Given the description of an element on the screen output the (x, y) to click on. 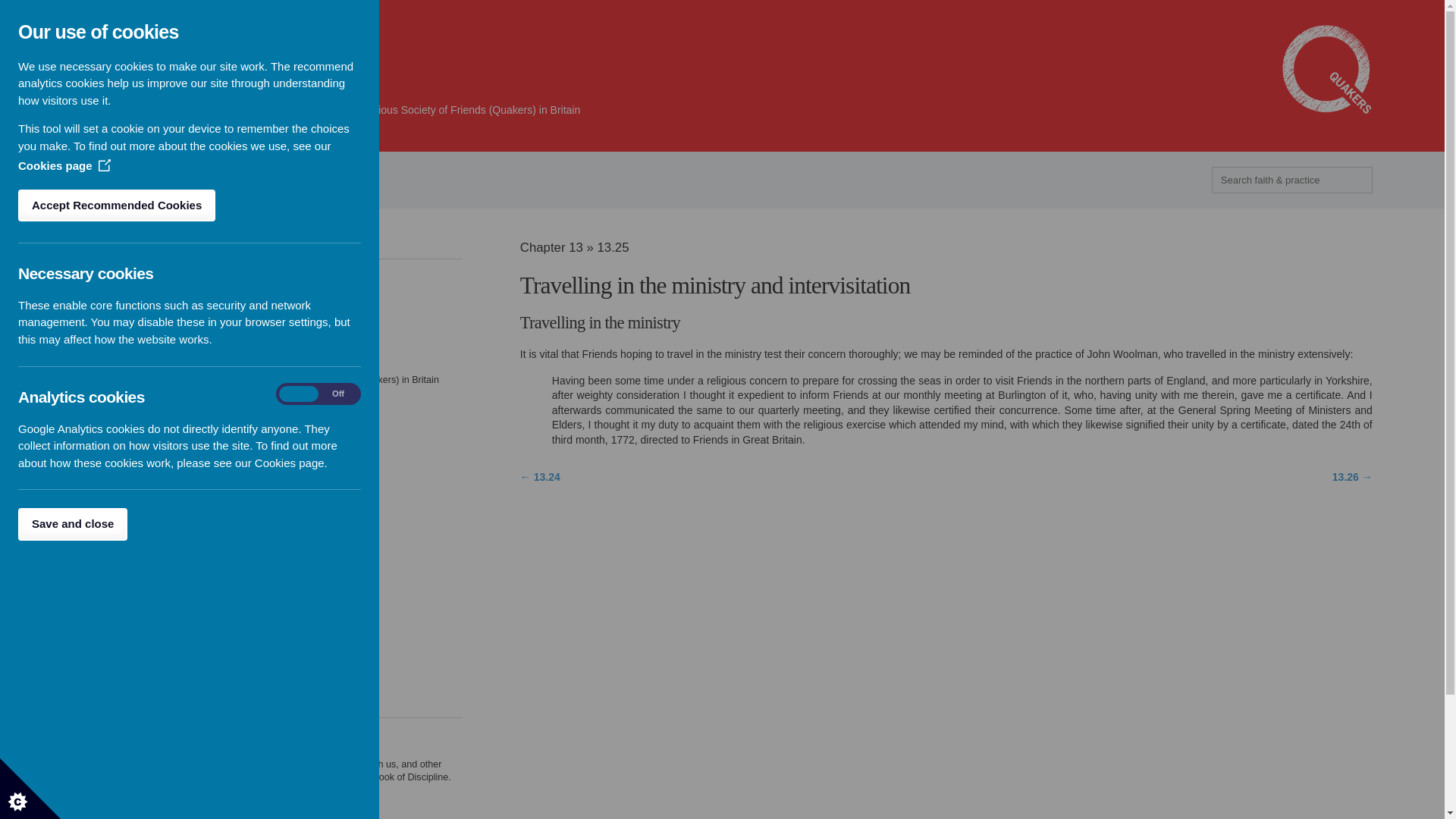
Quaker funerals and memorial meetings (170, 499)
Home (84, 179)
Social responsibility (127, 579)
www.quaker.org.uk (1327, 69)
Close relationships (126, 566)
Search (24, 9)
Introduction (110, 272)
quaker.org.uk (1327, 69)
Advices and queries (128, 285)
Chapter 13 (136, 179)
